Given the description of an element on the screen output the (x, y) to click on. 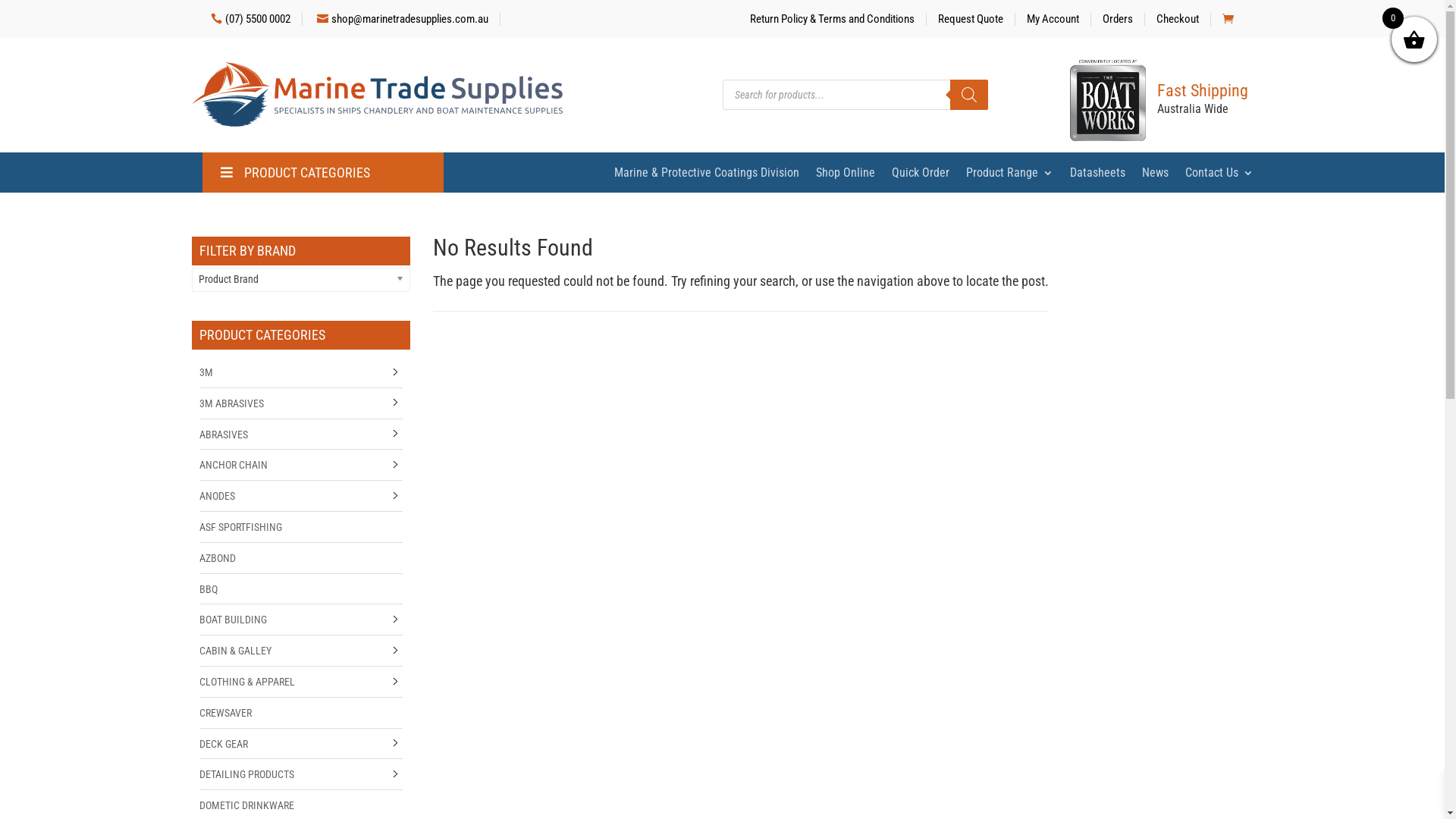
Quick Order Element type: text (920, 175)
ASF SPORTFISHING Element type: text (239, 526)
Product Range Element type: text (1009, 175)
Datasheets Element type: text (1096, 175)
BBQ Element type: text (207, 589)
3M Element type: text (205, 372)
Contact Us Element type: text (1218, 175)
DETAILING PRODUCTS Element type: text (245, 774)
DECK GEAR Element type: text (222, 743)
AZBOND Element type: text (216, 558)
PRODUCT CATEGORIES Element type: text (294, 172)
DOMETIC DRINKWARE Element type: text (245, 805)
Product Brand Element type: text (300, 279)
(07) 5500 0002 Element type: text (250, 18)
Request Quote Element type: text (970, 18)
BOAT BUILDING Element type: text (232, 619)
Marine & Protective Coatings Division Element type: text (706, 175)
Orders Element type: text (1118, 18)
CLOTHING & APPAREL Element type: text (246, 681)
ANCHOR CHAIN Element type: text (232, 464)
Checkout Element type: text (1178, 18)
Shop Online Element type: text (845, 175)
shop@marinetradesupplies.com.au Element type: text (402, 18)
CABIN & GALLEY Element type: text (234, 650)
3M ABRASIVES Element type: text (230, 403)
ABRASIVES Element type: text (222, 434)
News Element type: text (1155, 175)
CREWSAVER Element type: text (224, 712)
ANODES Element type: text (216, 495)
My Account Element type: text (1053, 18)
Return Policy & Terms and Conditions Element type: text (832, 18)
